Given the description of an element on the screen output the (x, y) to click on. 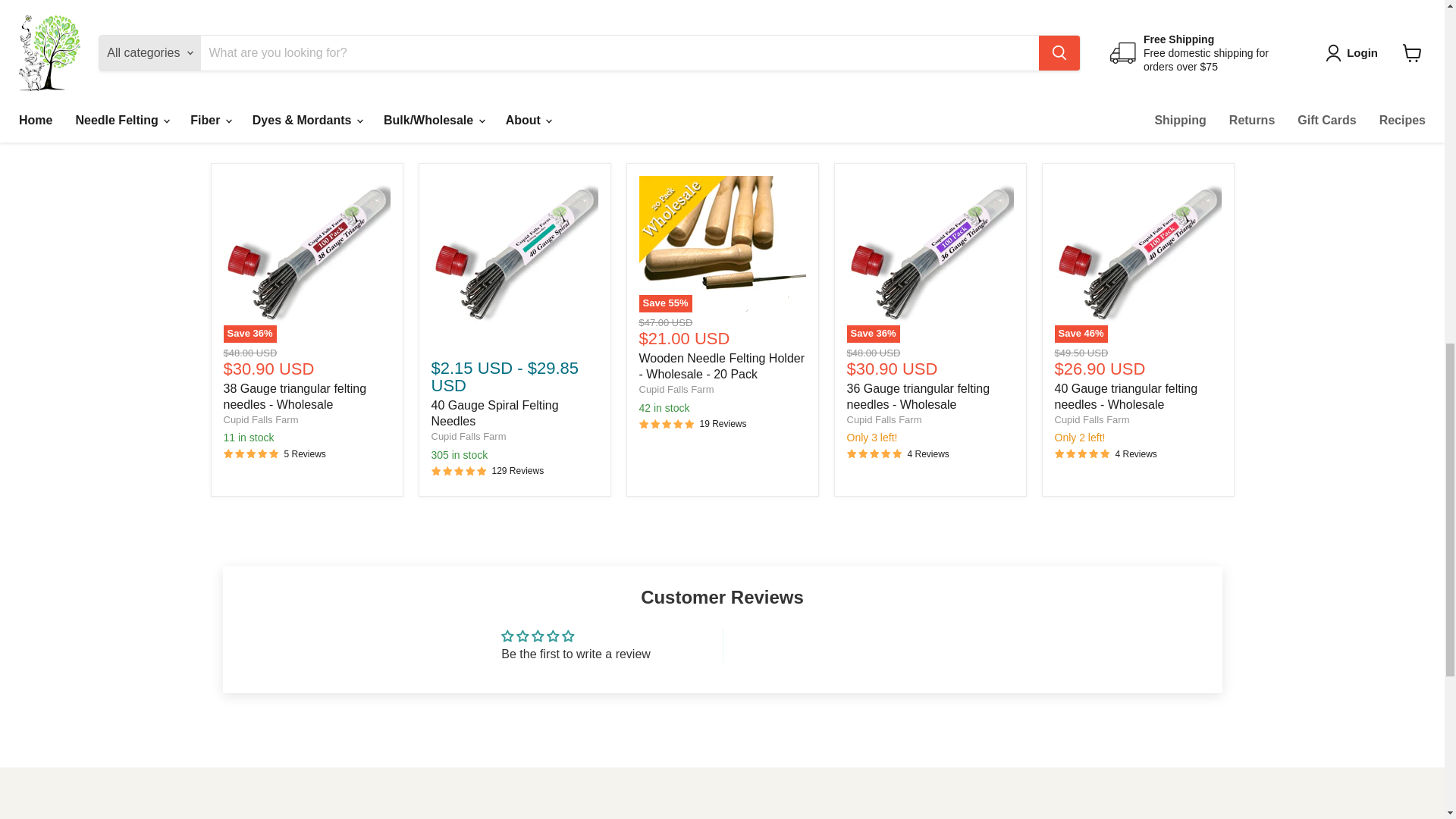
Cupid Falls Farm (1091, 419)
Cupid Falls Farm (260, 419)
Cupid Falls Farm (676, 389)
Cupid Falls Farm (467, 436)
Cupid Falls Farm (883, 419)
